Given the description of an element on the screen output the (x, y) to click on. 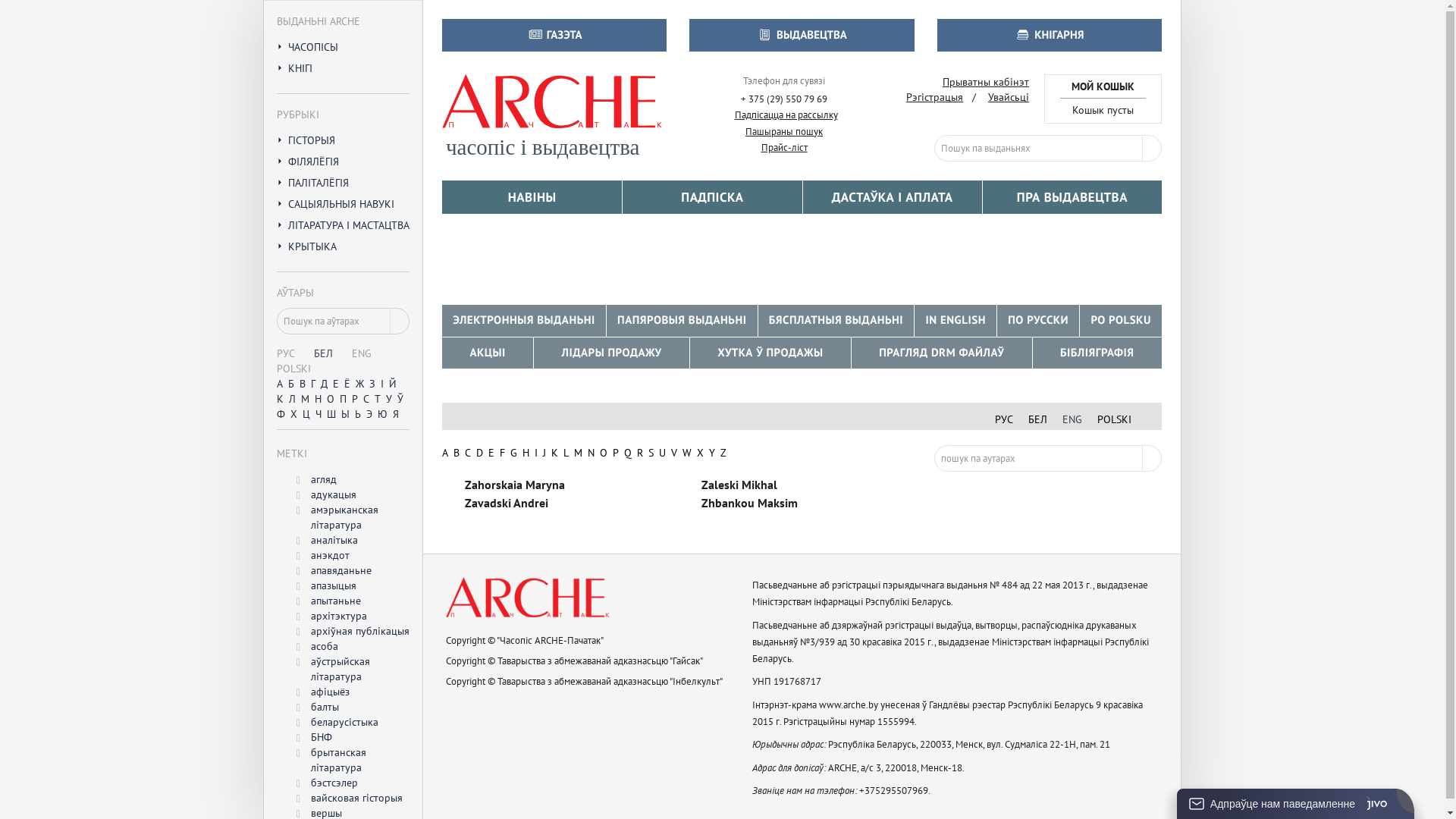
P Element type: text (615, 452)
Zaleski Mikhal Element type: text (739, 484)
PO POLSKU Element type: text (1120, 319)
I Element type: text (535, 452)
E Element type: text (491, 452)
+ 375 (29) 550 79 69 Element type: text (783, 99)
ENG Element type: text (1072, 419)
Q Element type: text (627, 452)
R Element type: text (640, 452)
Z Element type: text (723, 452)
V Element type: text (674, 452)
POLSKI Element type: text (293, 368)
Y Element type: text (712, 452)
K Element type: text (554, 452)
Zhbankou Maksim Element type: text (749, 502)
IN ENGLISH Element type: text (955, 319)
L Element type: text (565, 452)
G Element type: text (513, 452)
N Element type: text (590, 452)
Zavadski Andrei Element type: text (506, 502)
F Element type: text (502, 452)
J Element type: text (544, 452)
A Element type: text (445, 452)
O Element type: text (603, 452)
S Element type: text (650, 452)
W Element type: text (686, 452)
Zahorskaia Maryna Element type: text (514, 484)
B Element type: text (456, 452)
D Element type: text (479, 452)
X Element type: text (699, 452)
H Element type: text (525, 452)
POLSKI Element type: text (1114, 419)
C Element type: text (467, 452)
M Element type: text (578, 452)
ENG Element type: text (361, 353)
U Element type: text (661, 452)
